Given the description of an element on the screen output the (x, y) to click on. 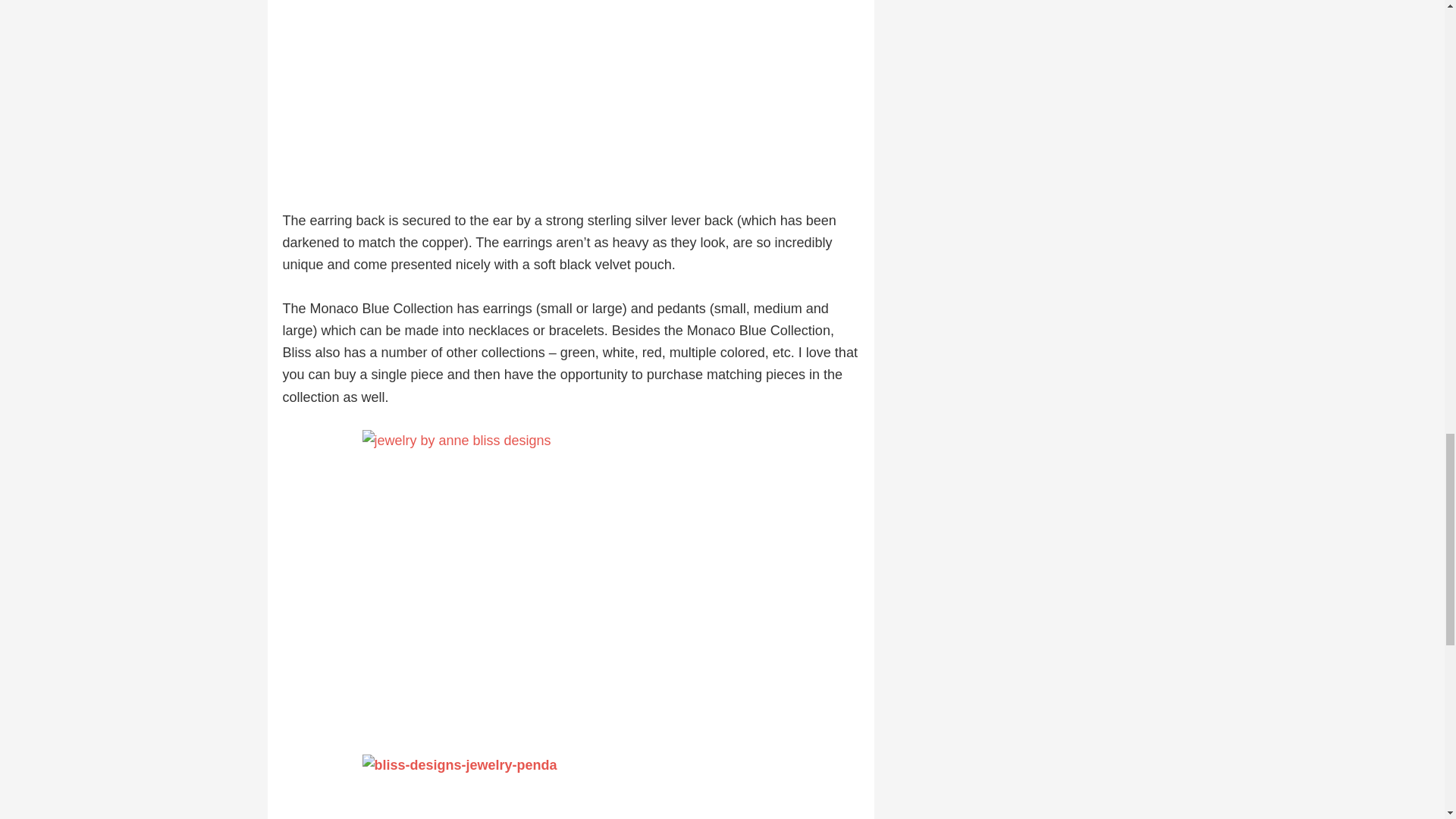
bliss-designs-jewelry-penda (570, 786)
bliss designs earrings monaco (570, 94)
jewelry by anne bliss designs (570, 581)
